Given the description of an element on the screen output the (x, y) to click on. 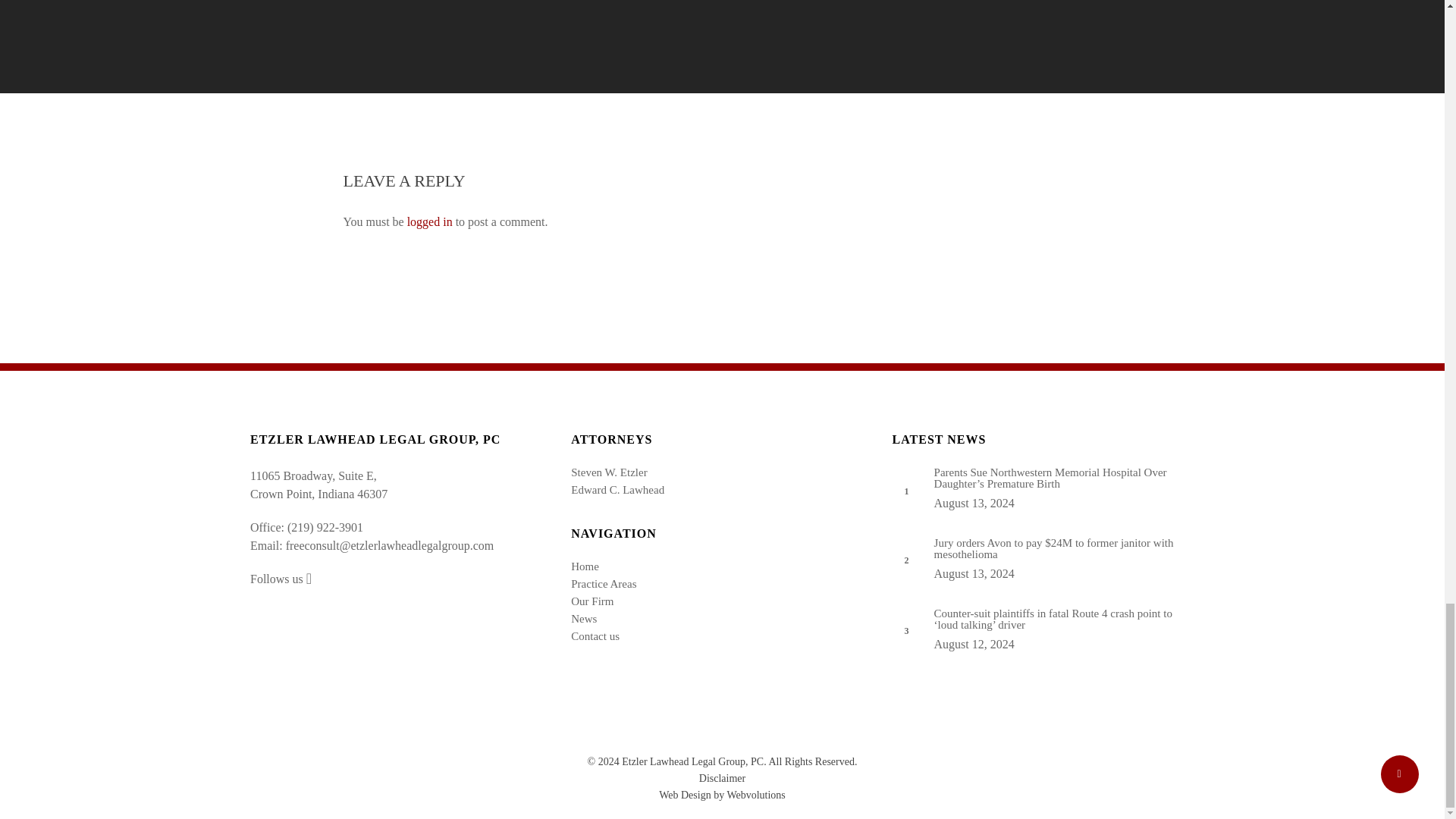
Edward C. Lawhead (721, 490)
Follows us (280, 578)
logged in (429, 221)
Steven W. Etzler (721, 472)
